Given the description of an element on the screen output the (x, y) to click on. 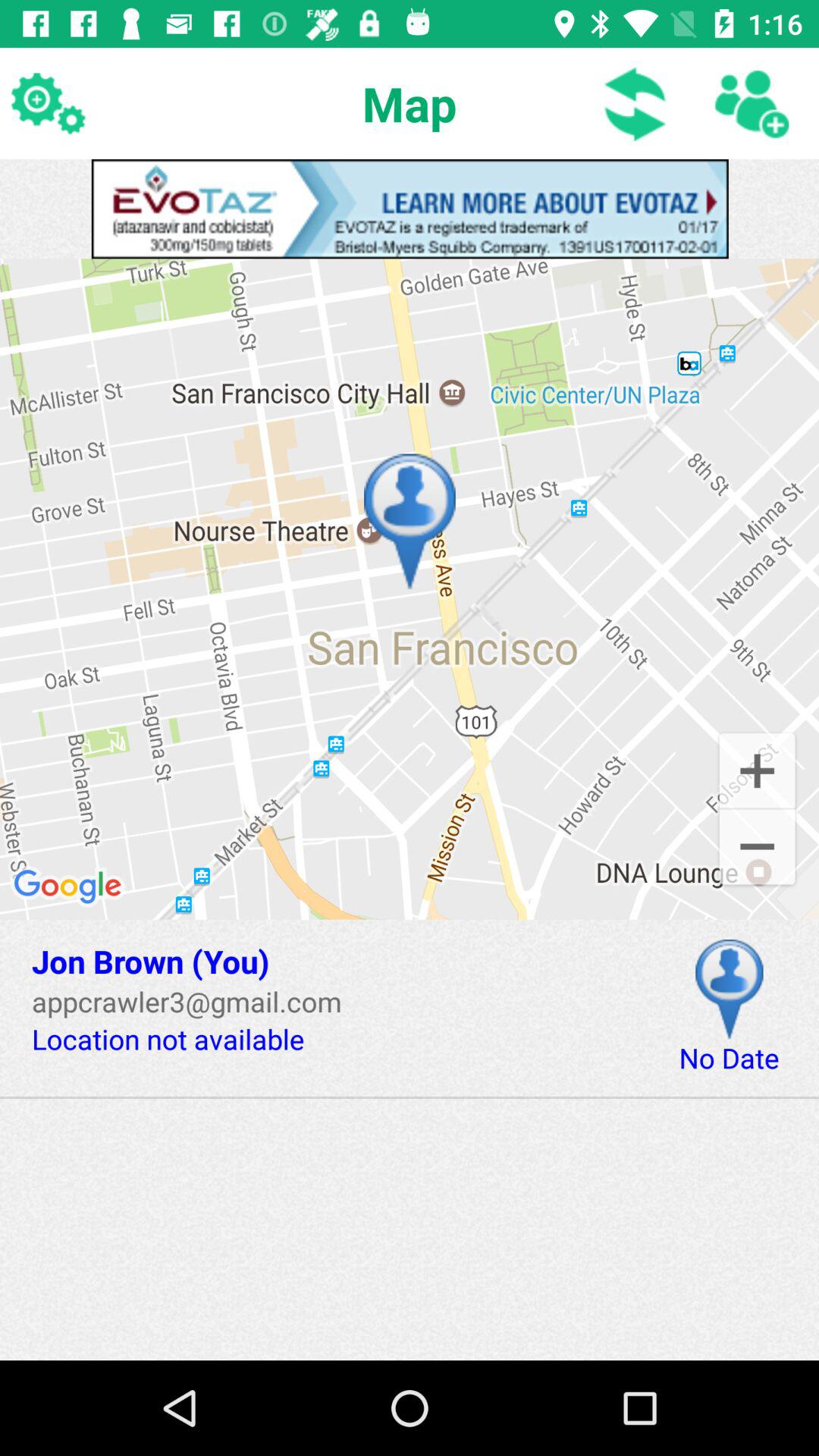
advertisement button (409, 208)
